Given the description of an element on the screen output the (x, y) to click on. 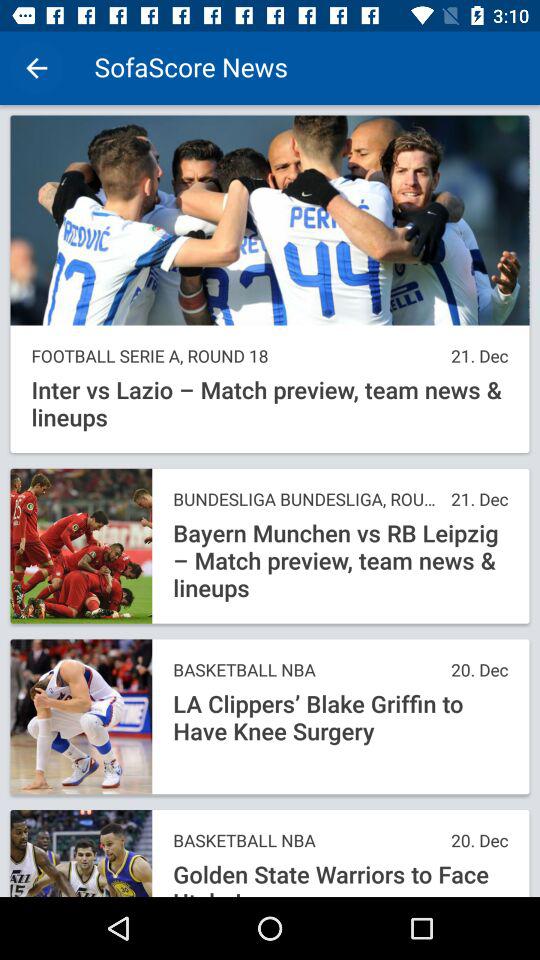
turn off bayern munchen vs item (340, 561)
